Given the description of an element on the screen output the (x, y) to click on. 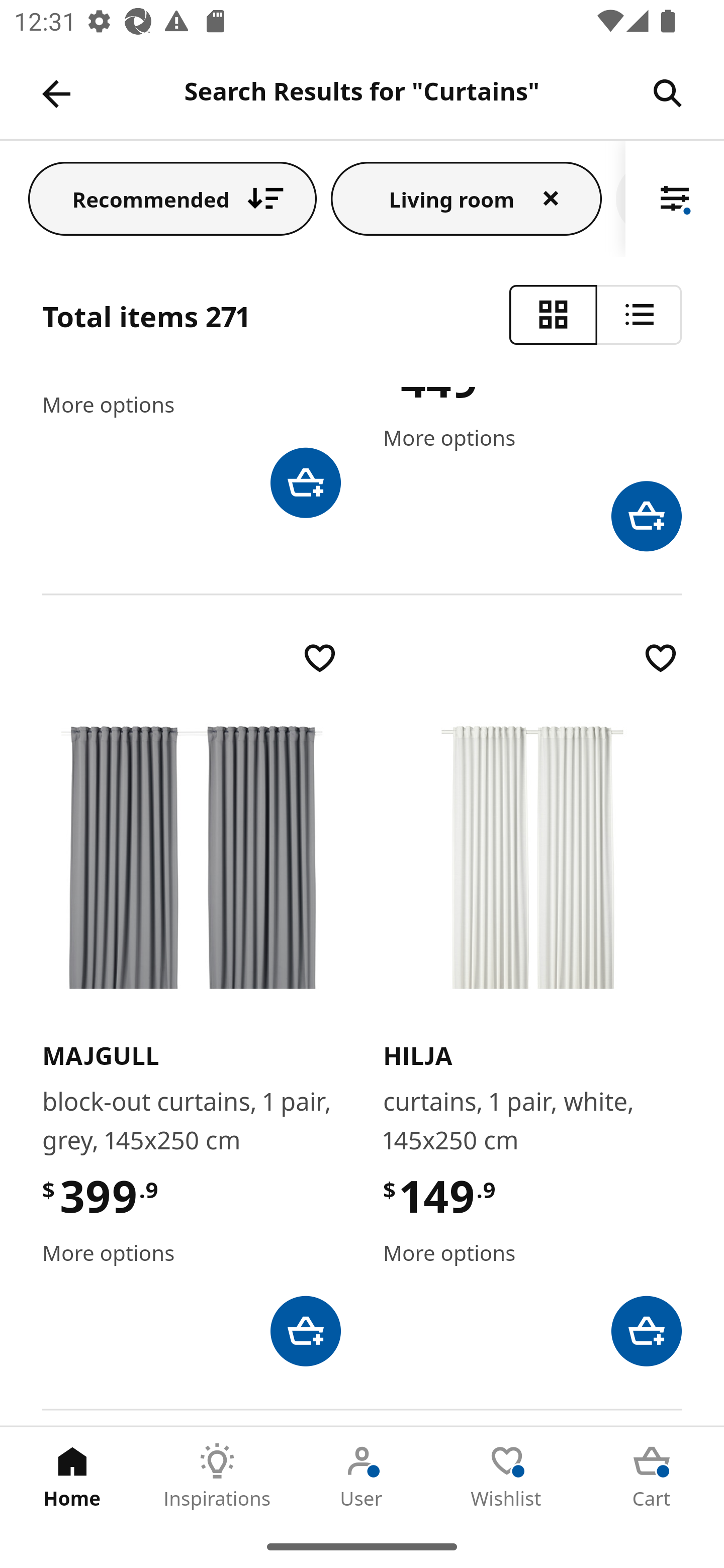
Recommended (172, 198)
Living room (465, 198)
Home
Tab 1 of 5 (72, 1476)
Inspirations
Tab 2 of 5 (216, 1476)
User
Tab 3 of 5 (361, 1476)
Wishlist
Tab 4 of 5 (506, 1476)
Cart
Tab 5 of 5 (651, 1476)
